Given the description of an element on the screen output the (x, y) to click on. 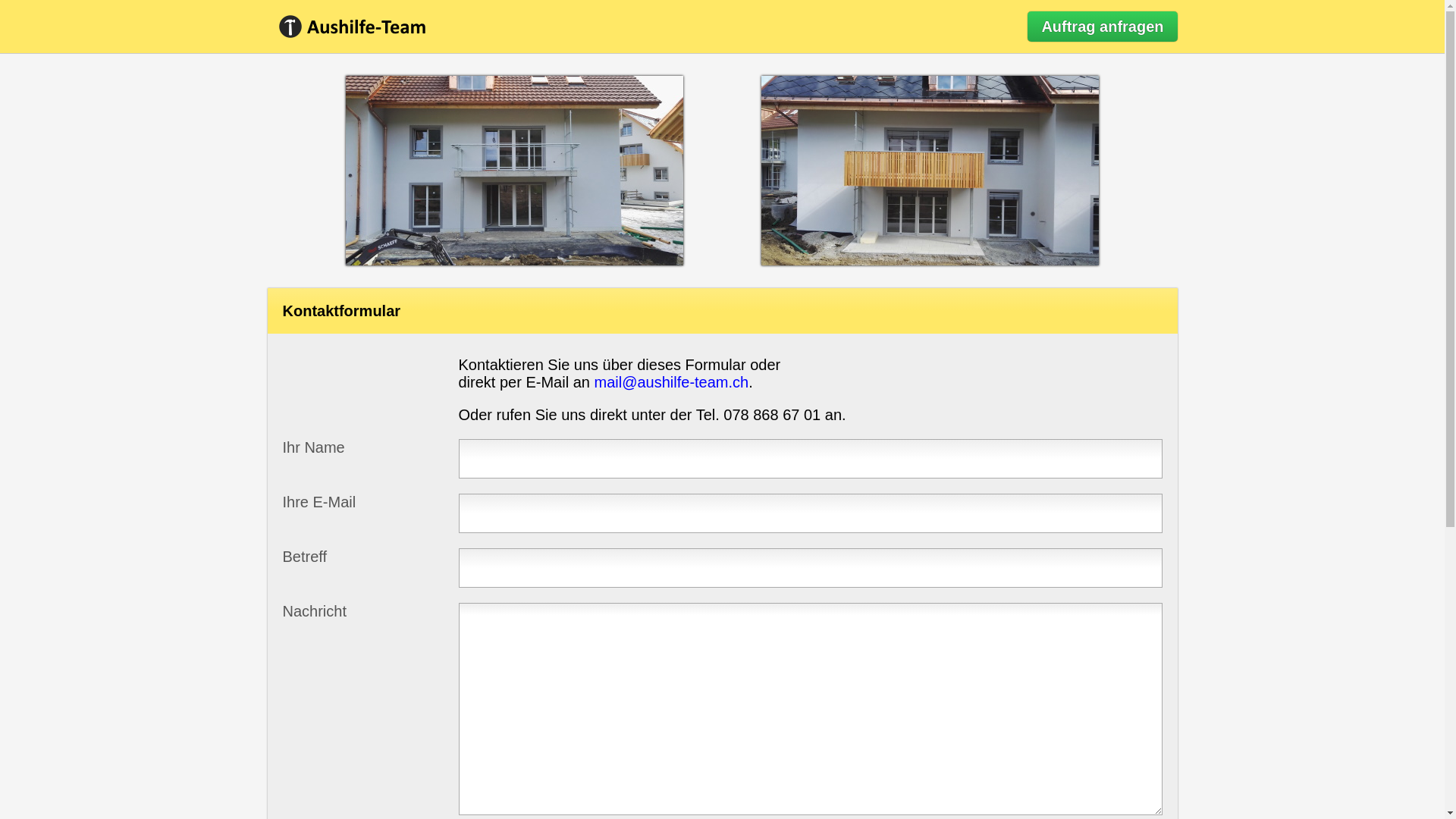
mail@aushilfe-team.ch Element type: text (670, 381)
Auftrag anfragen Element type: text (1101, 26)
